Given the description of an element on the screen output the (x, y) to click on. 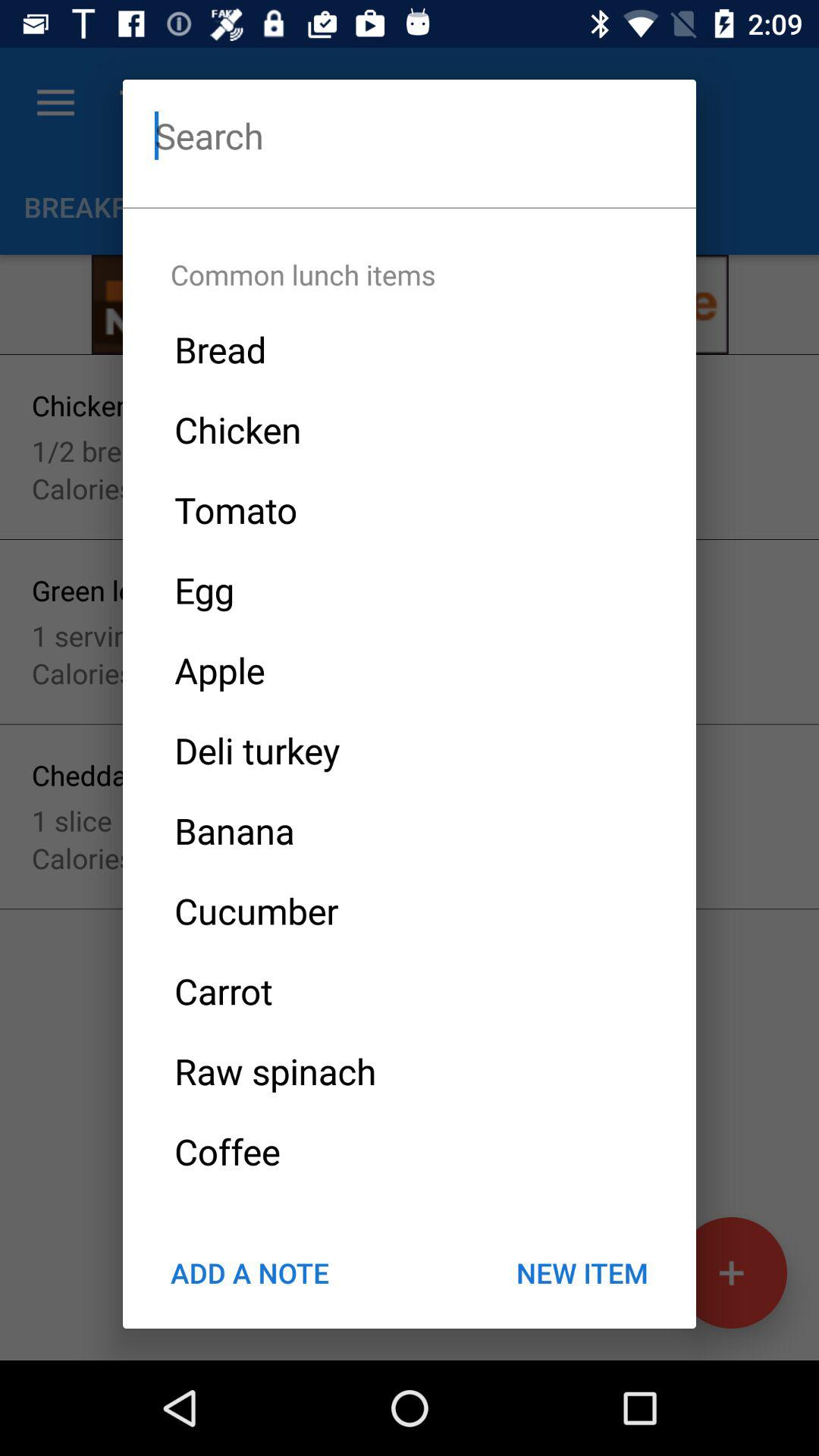
open the icon below the coffee (249, 1272)
